Given the description of an element on the screen output the (x, y) to click on. 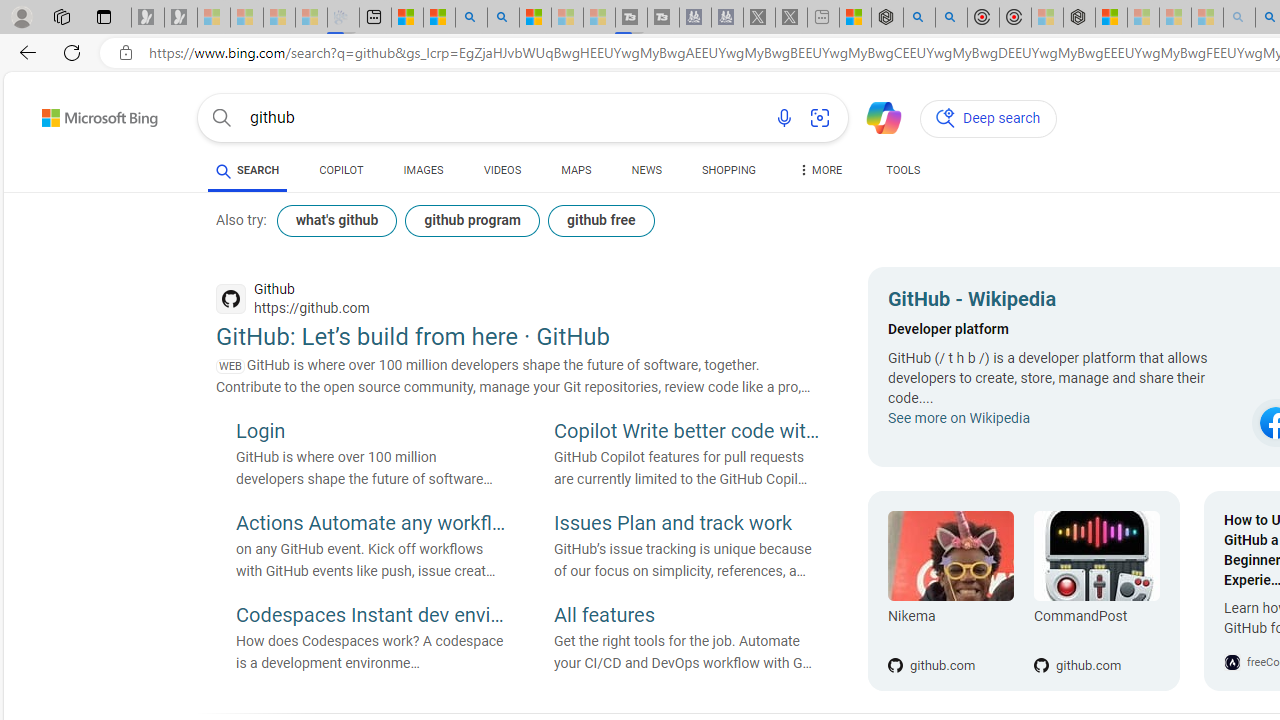
SHOPPING (728, 170)
Newsletter Sign Up - Sleeping (181, 17)
Search using voice (783, 117)
All features (689, 616)
github program (472, 220)
SEARCH (247, 170)
SEARCH (247, 170)
